Given the description of an element on the screen output the (x, y) to click on. 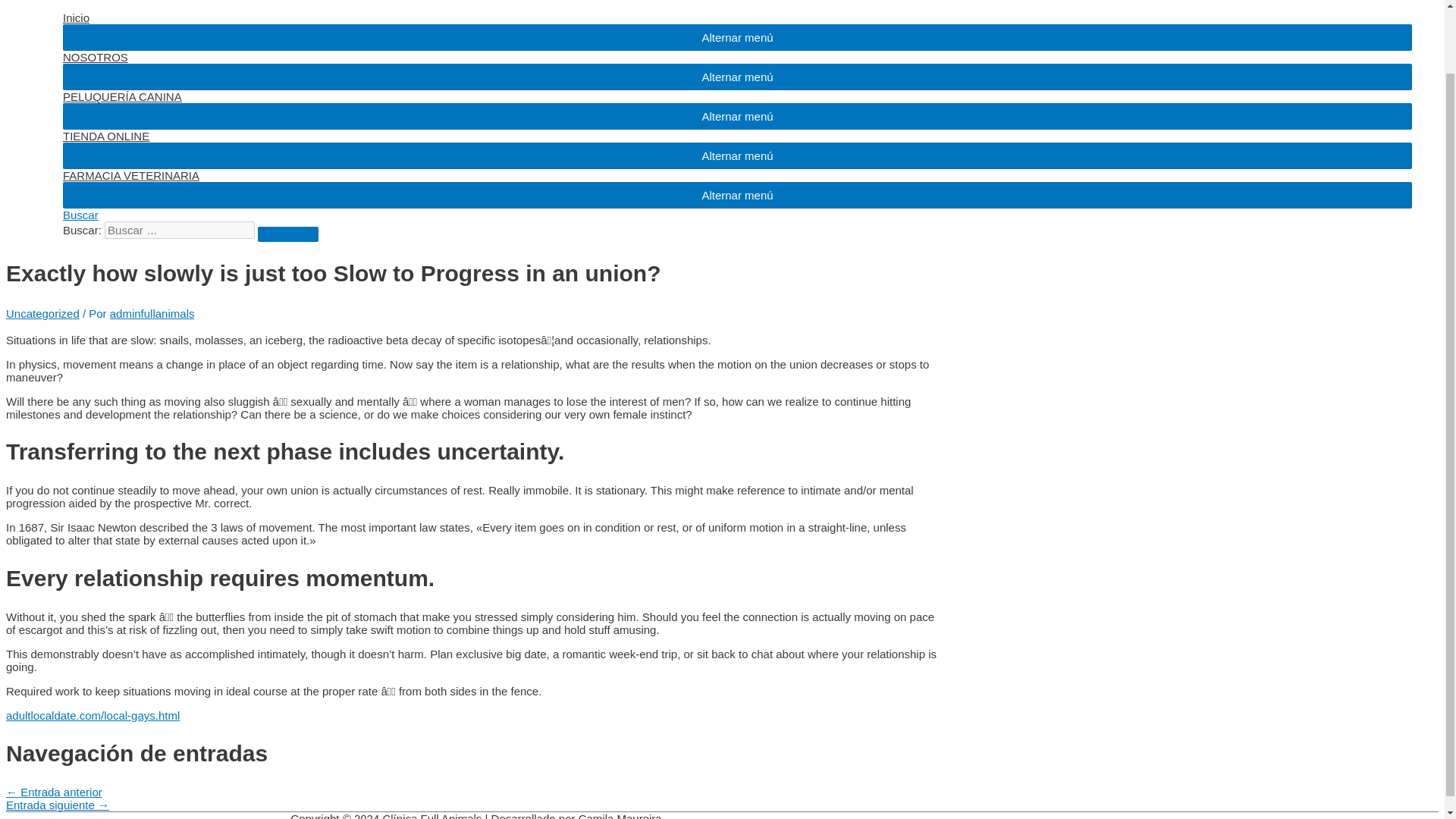
Buscar (80, 214)
Ver todas las entradas de adminfullanimals (152, 313)
adminfullanimals (152, 313)
Uncategorized (42, 313)
Buscar (287, 233)
